Given the description of an element on the screen output the (x, y) to click on. 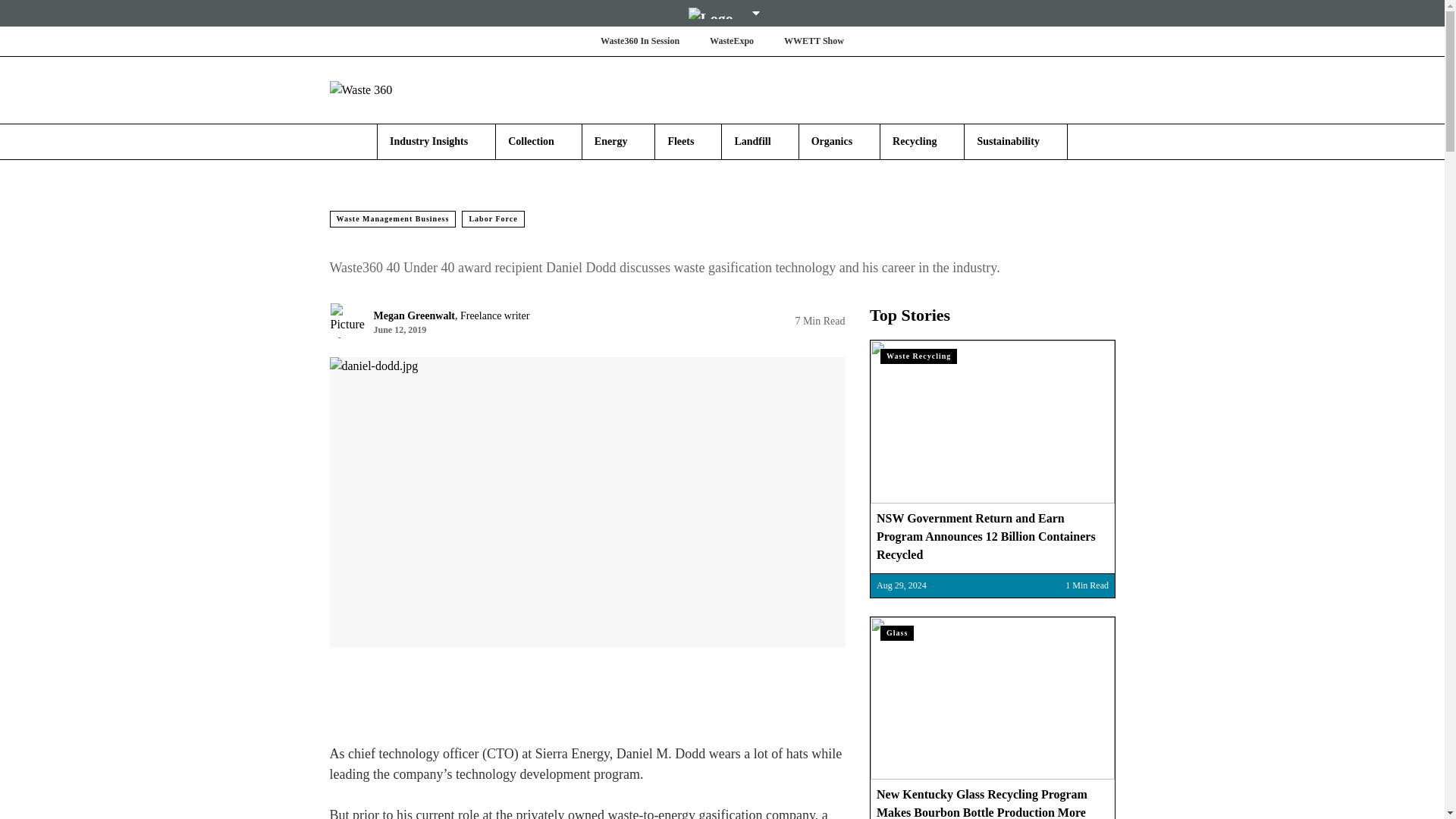
Waste 360 (419, 90)
Waste360 In Session (639, 41)
WasteExpo (731, 41)
WWETT Show (813, 41)
